Given the description of an element on the screen output the (x, y) to click on. 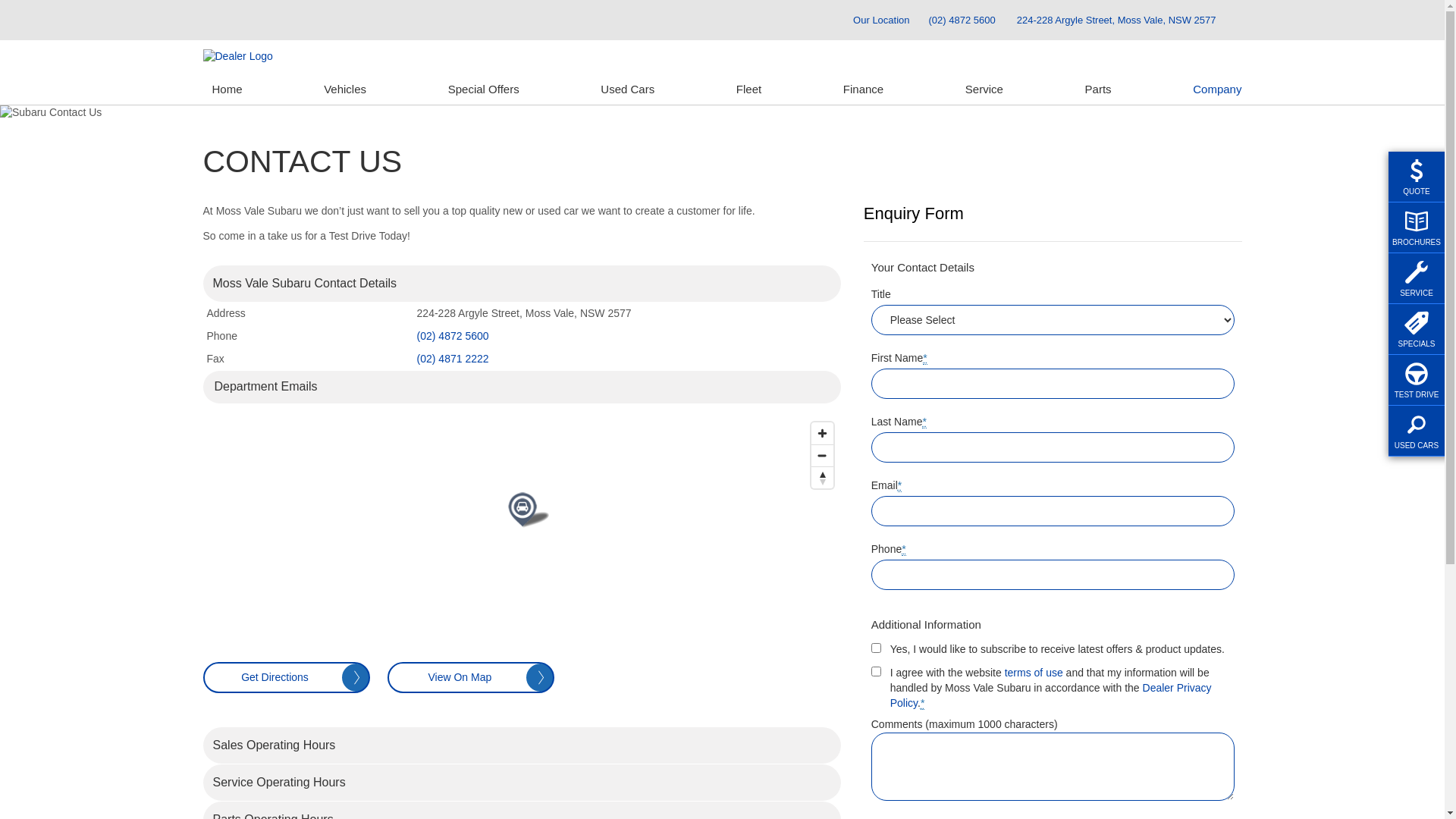
Sales Operating Hours Element type: text (521, 745)
Service Element type: text (984, 88)
224-228 Argyle Street, Moss Vale, NSW 2577 Element type: text (1116, 19)
(02) 4871 2222 Element type: text (453, 358)
Fleet Element type: text (748, 88)
Zoom out Element type: hover (822, 455)
Company Element type: text (1212, 88)
Dealer Privacy Policy Element type: text (1050, 695)
Vehicles Element type: text (344, 88)
Reset bearing to north Element type: hover (822, 477)
Moss Vale Subaru Contact Details Element type: text (521, 283)
Service Operating Hours Element type: text (521, 782)
Used Cars Element type: text (627, 88)
(02) 4872 5600 Element type: text (961, 19)
Special Offers Element type: text (483, 88)
Finance Element type: text (863, 88)
(02) 4872 5600 Element type: text (453, 335)
Parts Element type: text (1098, 88)
View On Map Element type: text (470, 677)
Get Directions Element type: text (286, 677)
Our Location Element type: text (874, 19)
terms of use Element type: text (1033, 672)
Home Element type: text (227, 88)
Department Emails
  Element type: text (521, 386)
Zoom in Element type: hover (822, 433)
